Given the description of an element on the screen output the (x, y) to click on. 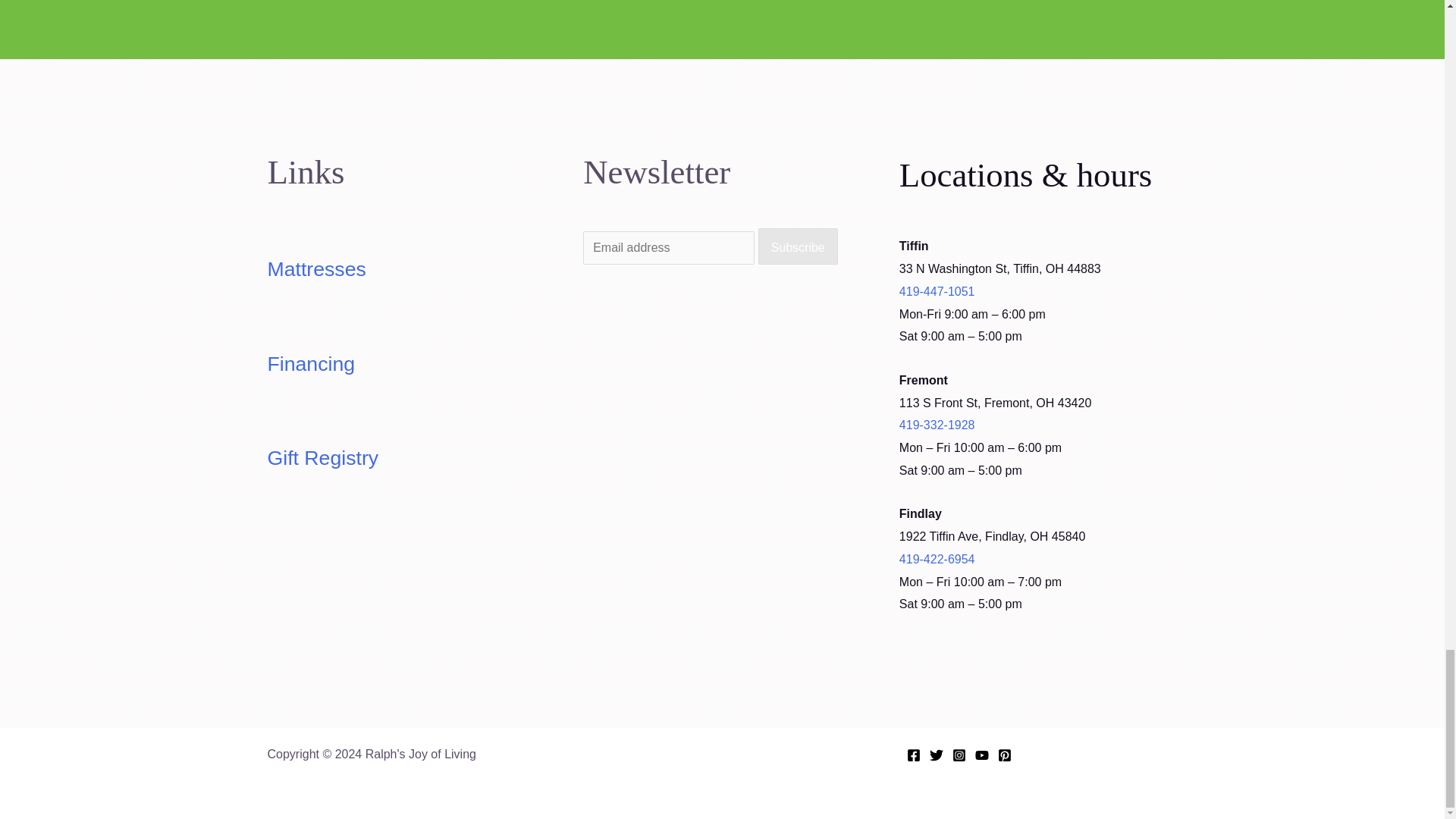
419-332-1928 (994, 436)
Gift Registry (322, 457)
Subscribe (798, 246)
419-447-1051 (937, 291)
Mattresses (315, 268)
Financing (310, 363)
